Given the description of an element on the screen output the (x, y) to click on. 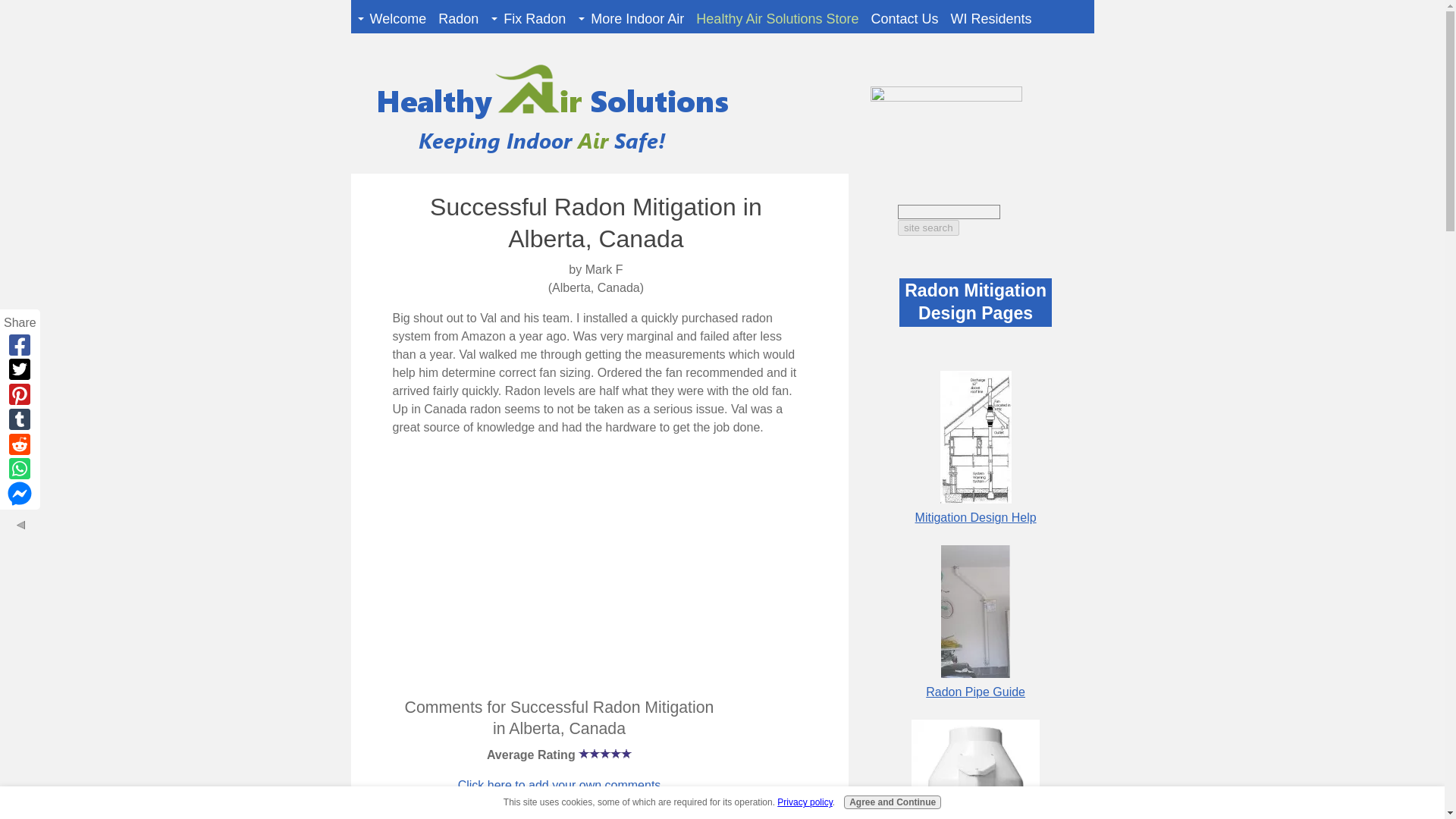
Radon (458, 18)
WI Residents (991, 18)
site search (928, 227)
site search (928, 227)
Contact Us (903, 18)
Go to Healthy Air Solutions Store (951, 97)
Healthy Air Solutions Store (777, 18)
Radon Pipe Guide (975, 691)
Mitigation Design Help (975, 517)
Click here to add your own comments (559, 784)
